Given the description of an element on the screen output the (x, y) to click on. 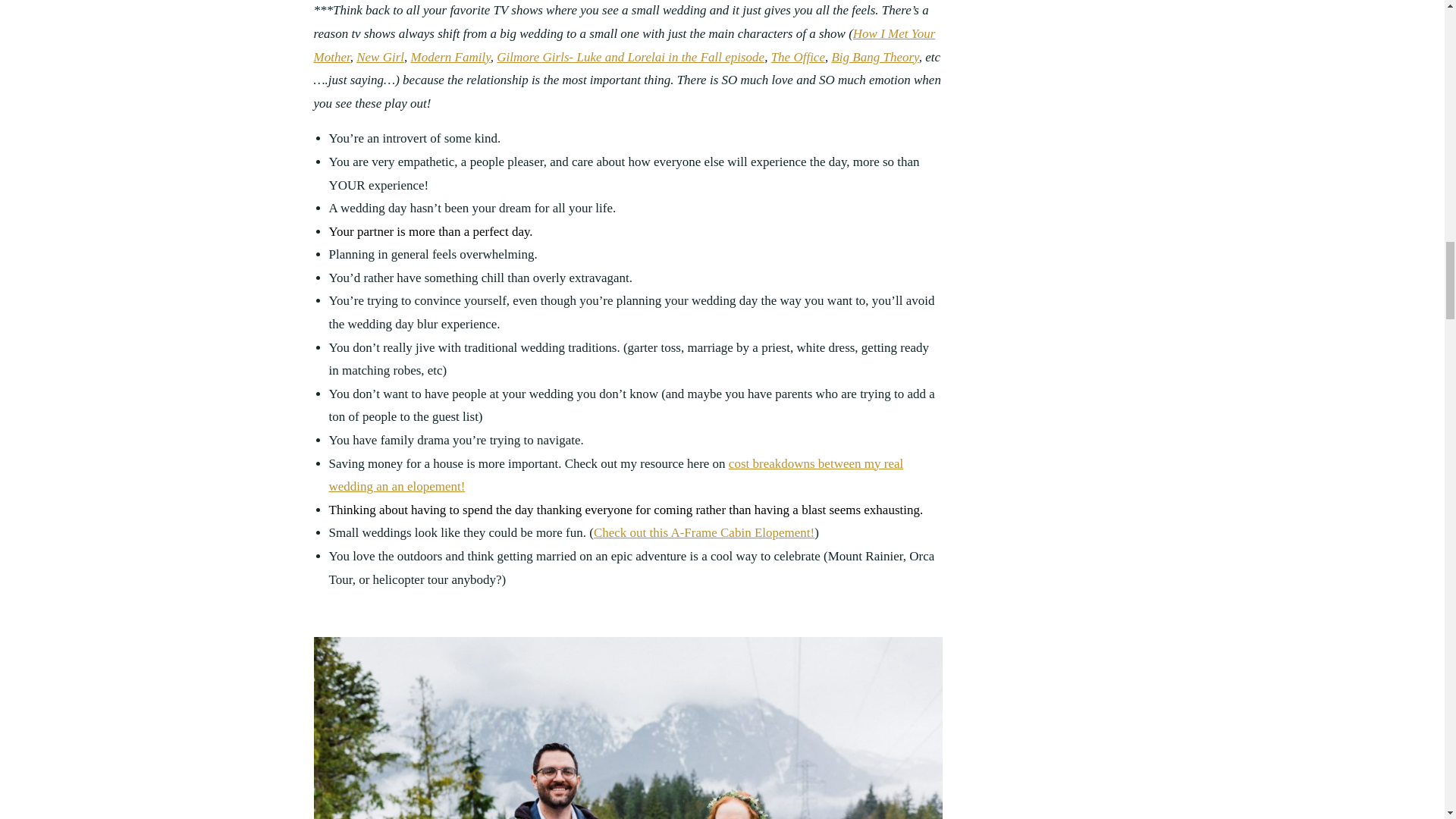
Gilmore Girls- Luke and Lorelai in the Fall episode (630, 56)
Big Bang Theory (874, 56)
New Girl (380, 56)
Check out this A-Frame Cabin Elopement! (703, 532)
cost breakdowns between my real wedding an an elopement! (616, 475)
How I Met Your Mother (625, 45)
Modern Family (449, 56)
The Office (798, 56)
